Given the description of an element on the screen output the (x, y) to click on. 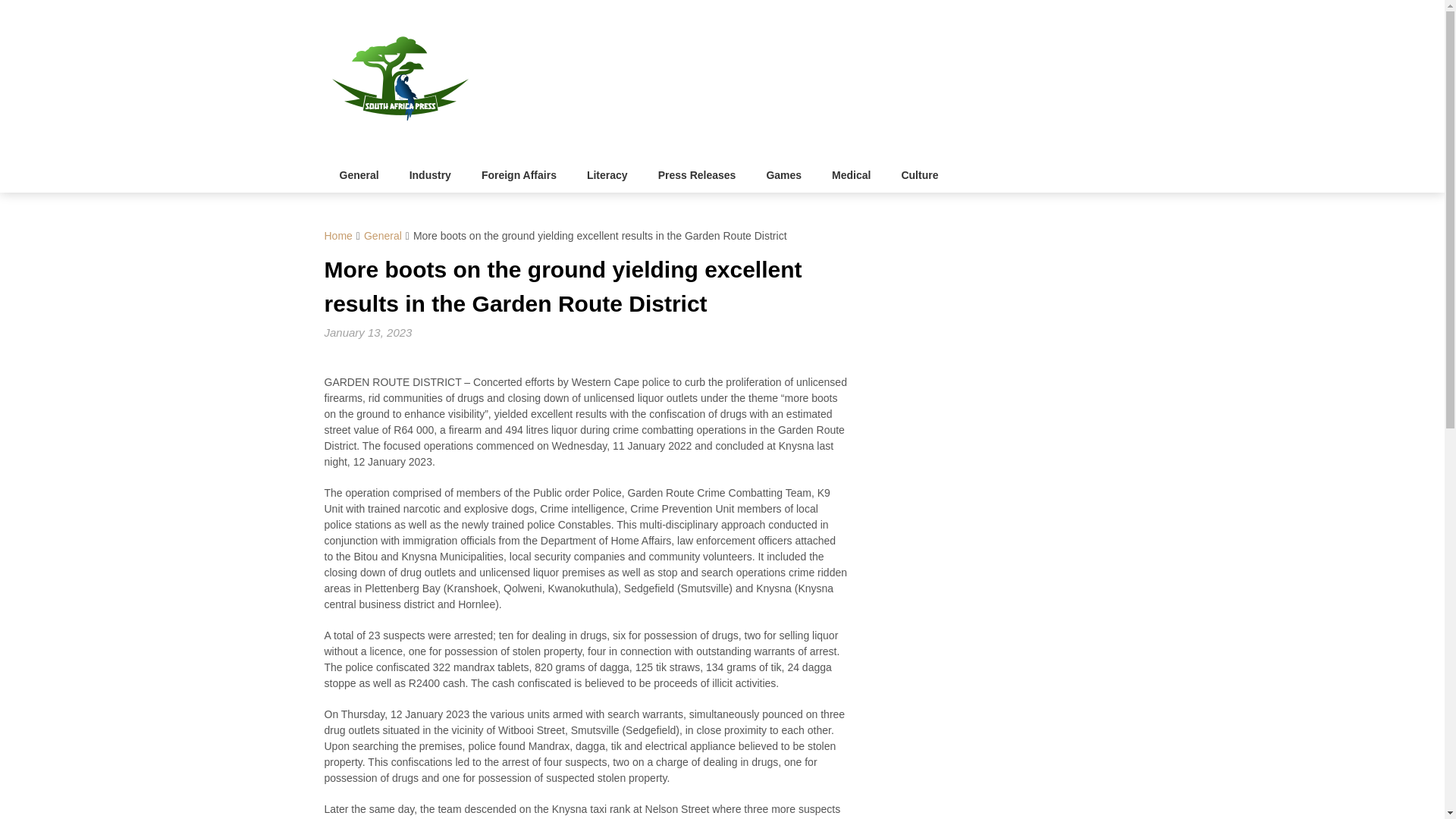
Games (783, 175)
Industry (429, 175)
Foreign Affairs (518, 175)
Literacy (607, 175)
Home (338, 235)
Culture (919, 175)
General (359, 175)
Medical (850, 175)
Press Releases (697, 175)
General (382, 235)
